Given the description of an element on the screen output the (x, y) to click on. 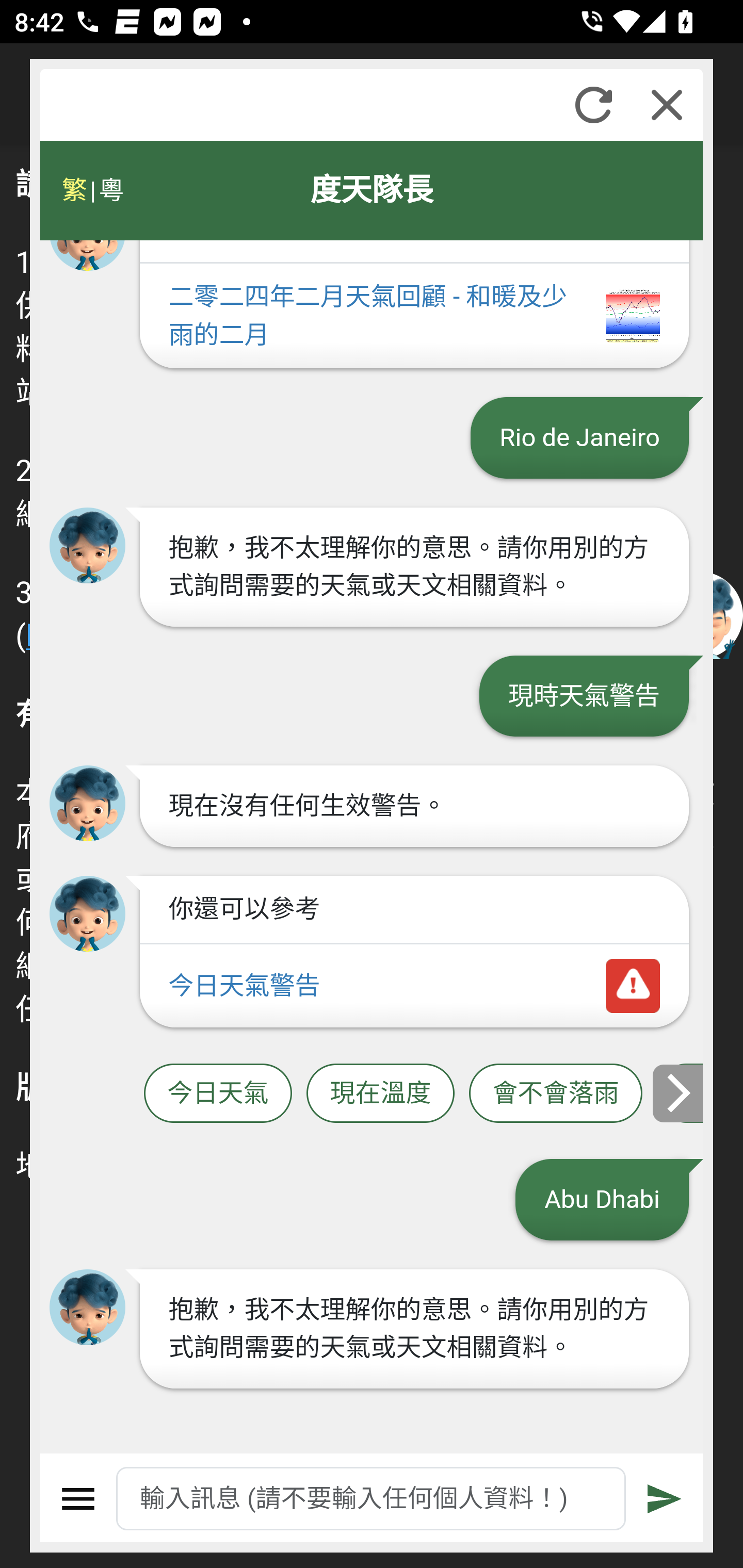
重新整理 (593, 104)
關閉 (666, 104)
繁 (73, 190)
粵 (110, 190)
二零二四年二月天氣回顧 - 和暖及少雨的二月 (413, 316)
今日天氣警告 (413, 985)
今日天氣 (217, 1092)
現在溫度 (380, 1092)
會不會落雨 (555, 1092)
香港潮汐資料 (680, 1092)
選單 (78, 1498)
遞交 (665, 1498)
